Given the description of an element on the screen output the (x, y) to click on. 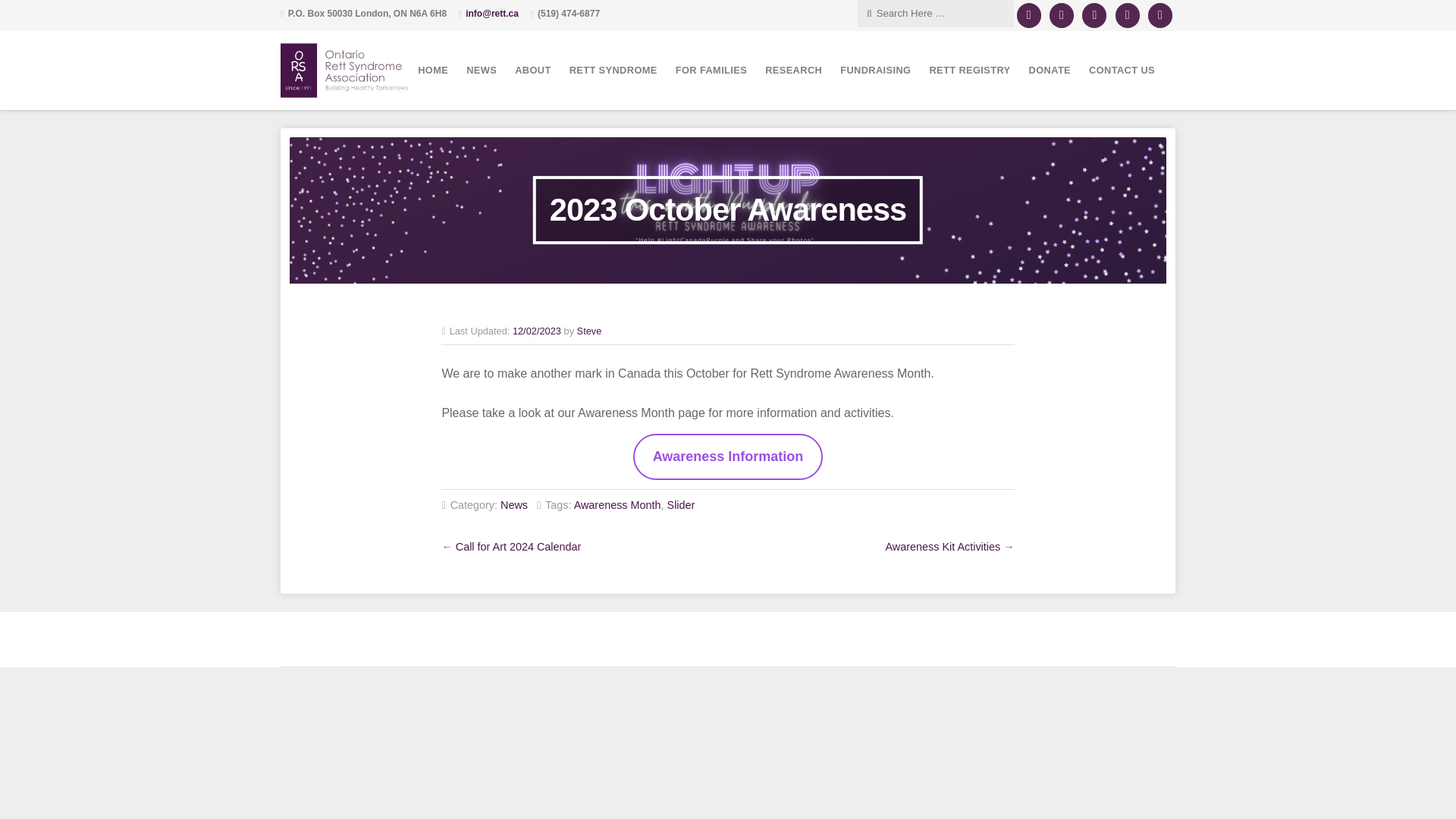
ABOUT (532, 70)
View all posts by Steve (589, 330)
HOME (433, 70)
FOR FAMILIES (710, 70)
7:40 am (536, 330)
NEWS (481, 70)
RETT SYNDROME (613, 70)
Go (98, 11)
